Given the description of an element on the screen output the (x, y) to click on. 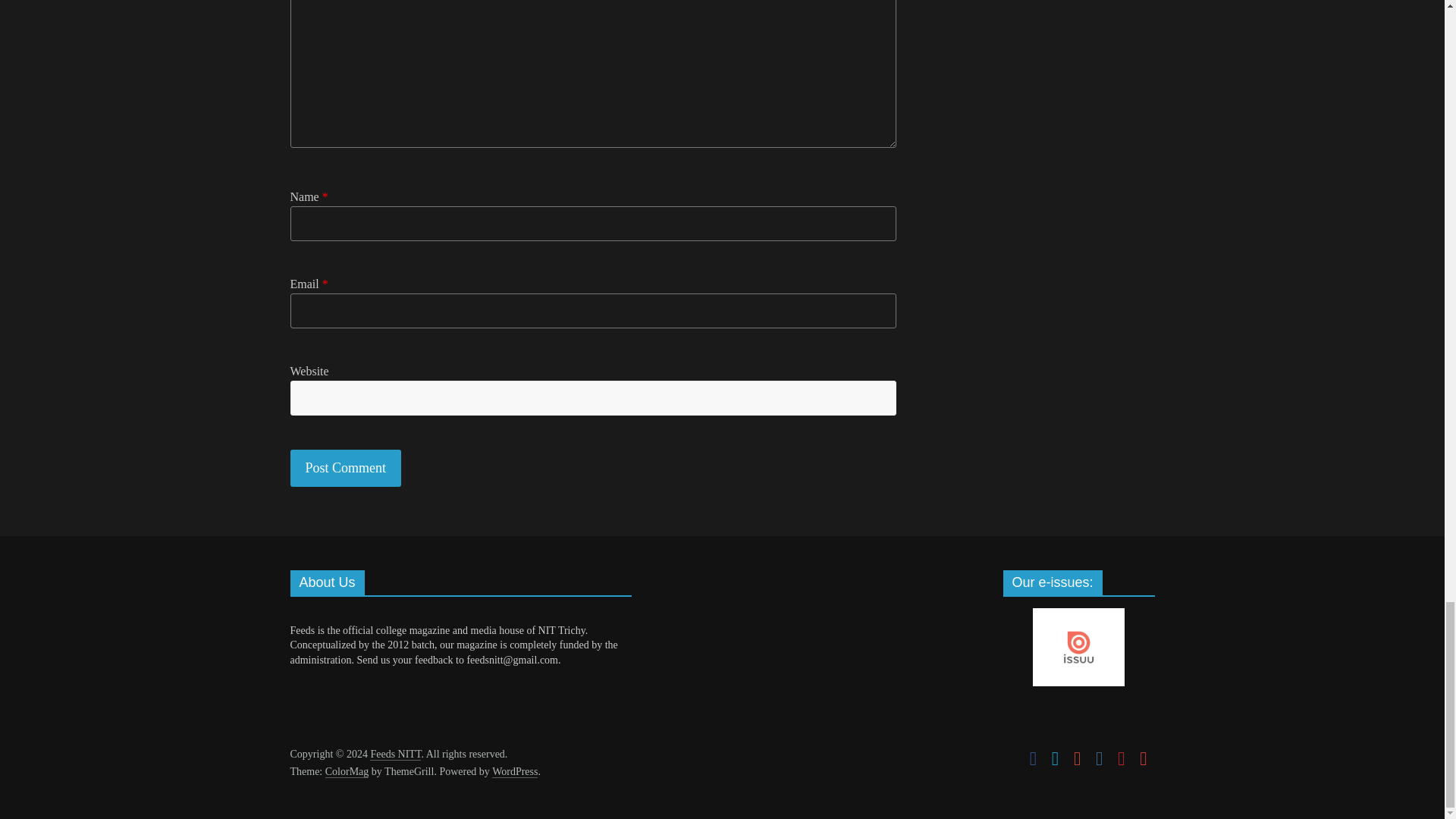
Post Comment (345, 467)
